Given the description of an element on the screen output the (x, y) to click on. 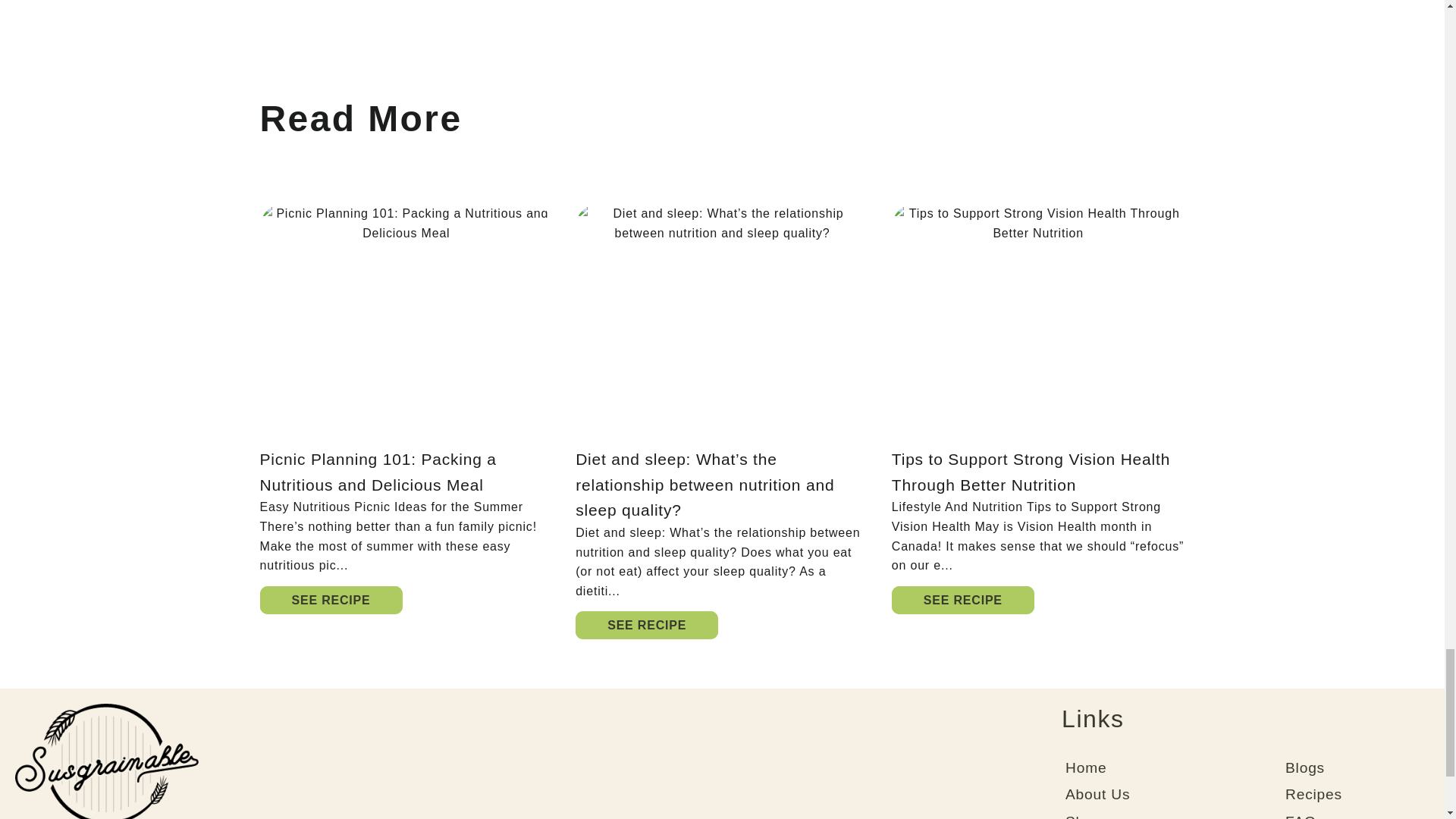
Pin on Pinterest (630, 2)
Share on Facebook (566, 2)
Tweet on Twitter (598, 2)
